Given the description of an element on the screen output the (x, y) to click on. 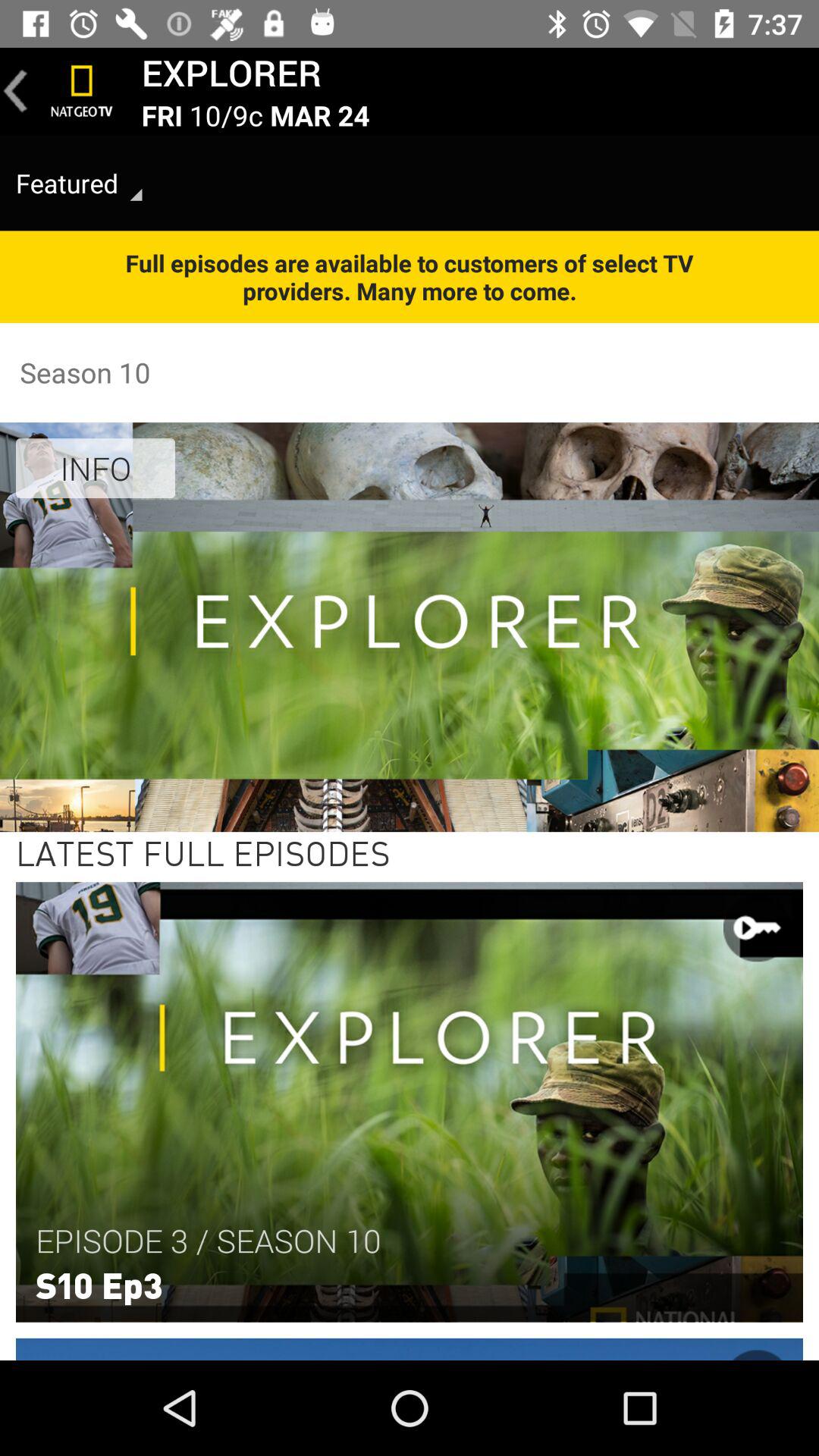
turn on icon above s10 ep3 icon (208, 1240)
